Given the description of an element on the screen output the (x, y) to click on. 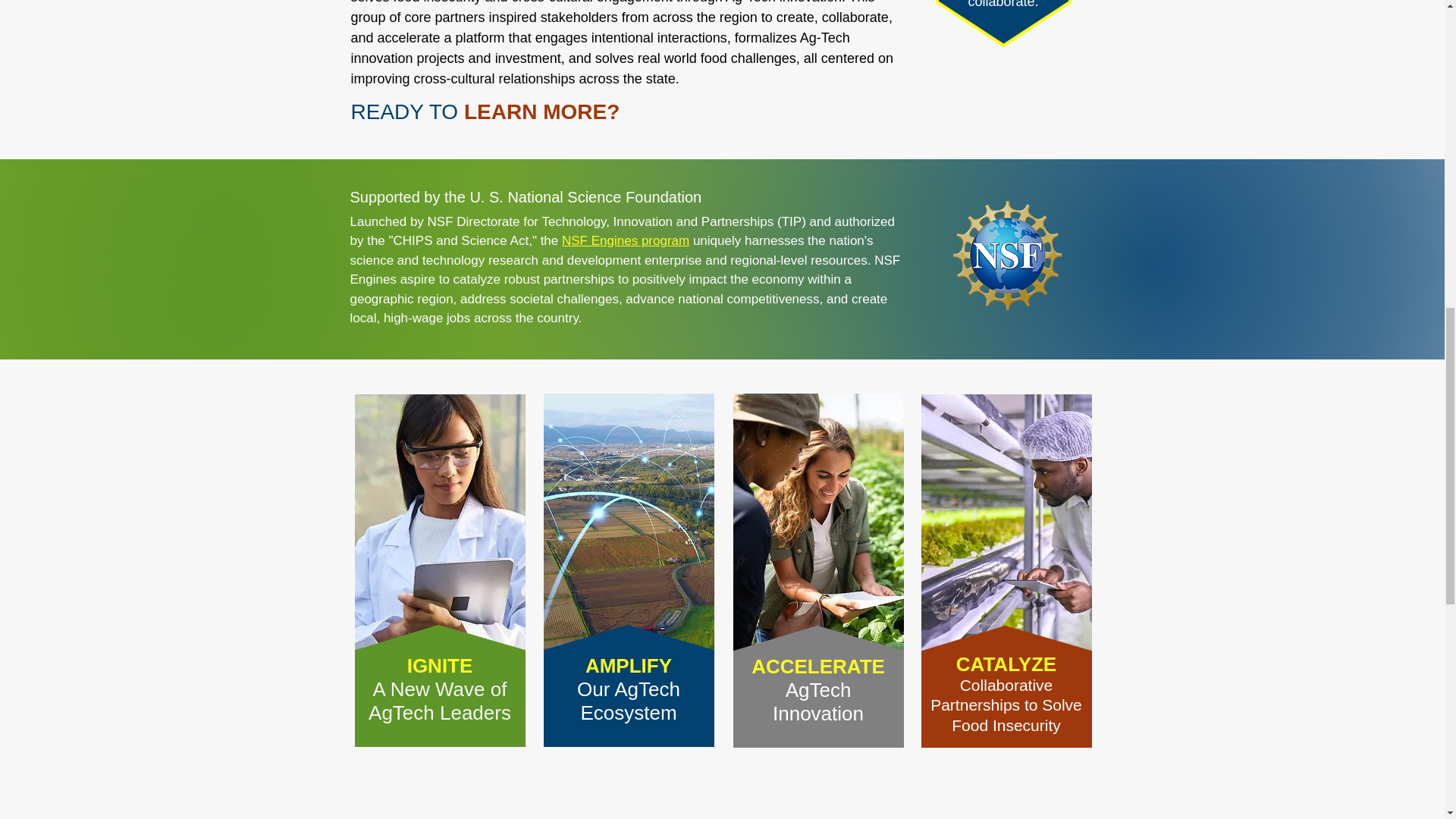
LEARN MORE? (542, 111)
NSF Engines program (625, 240)
CATALYZE (627, 689)
